Given the description of an element on the screen output the (x, y) to click on. 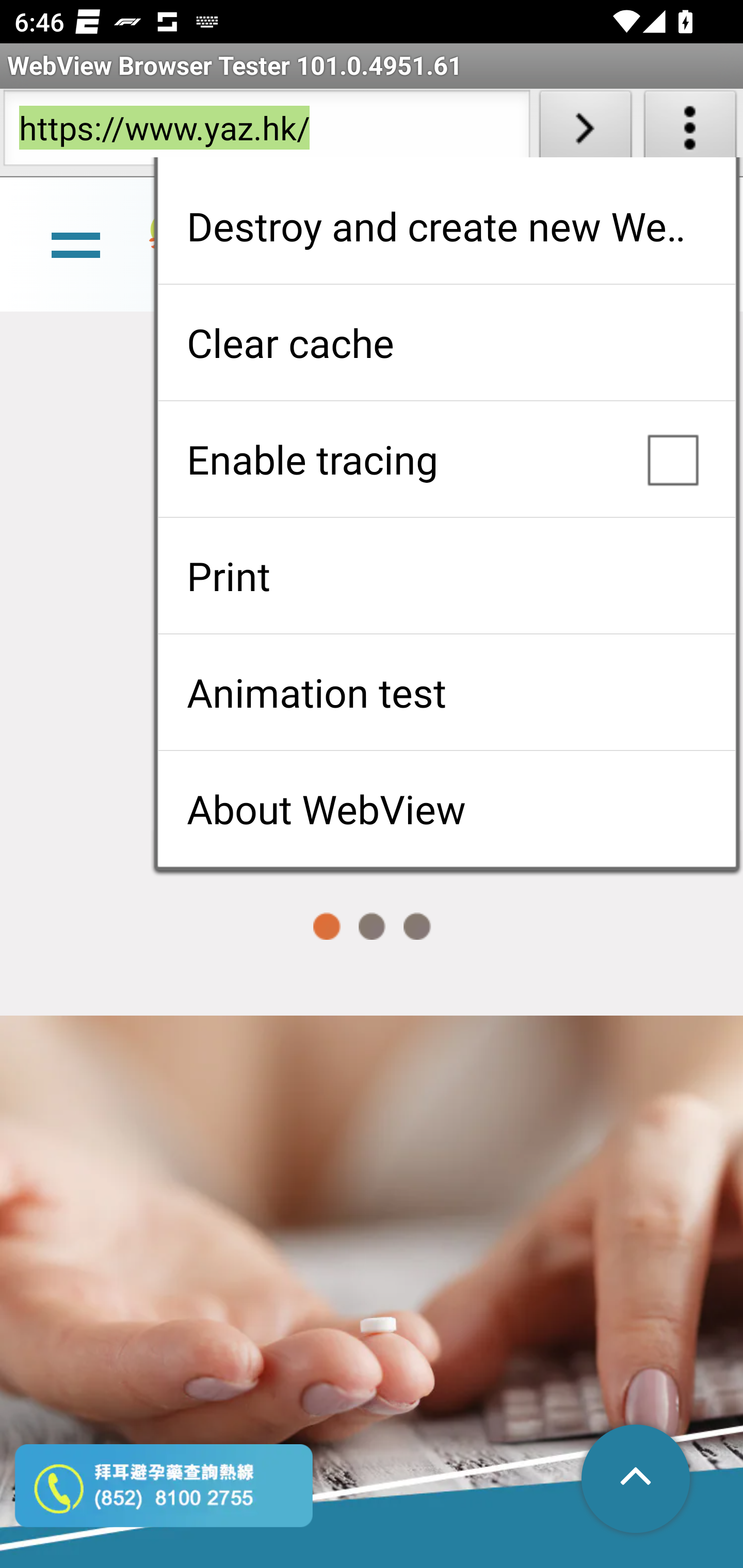
Destroy and create new WebView (446, 225)
Clear cache (446, 342)
Enable tracing (446, 459)
Print (446, 575)
Animation test (446, 692)
About WebView (446, 809)
